Given the description of an element on the screen output the (x, y) to click on. 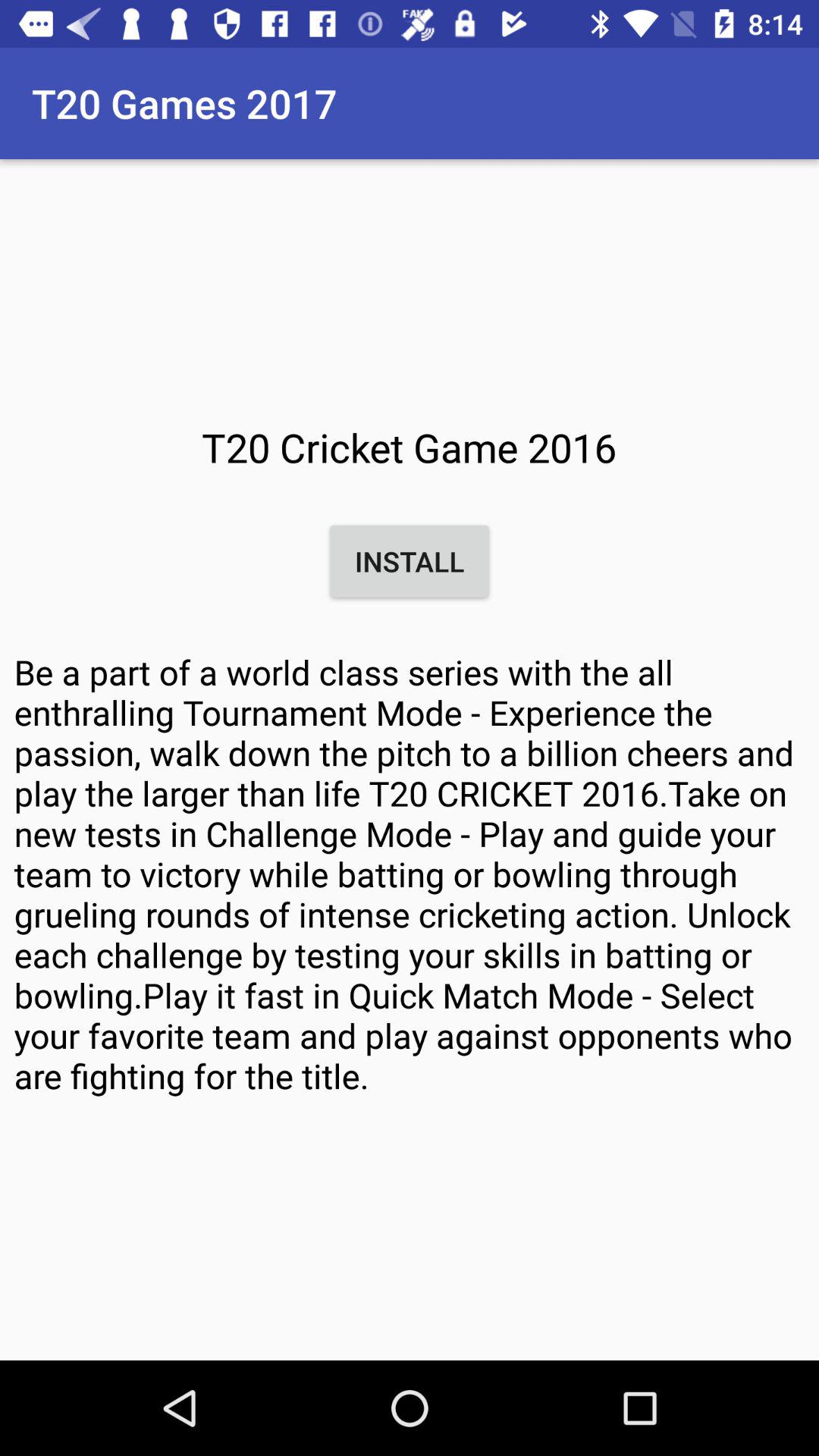
select the icon above the be a part (409, 561)
